Given the description of an element on the screen output the (x, y) to click on. 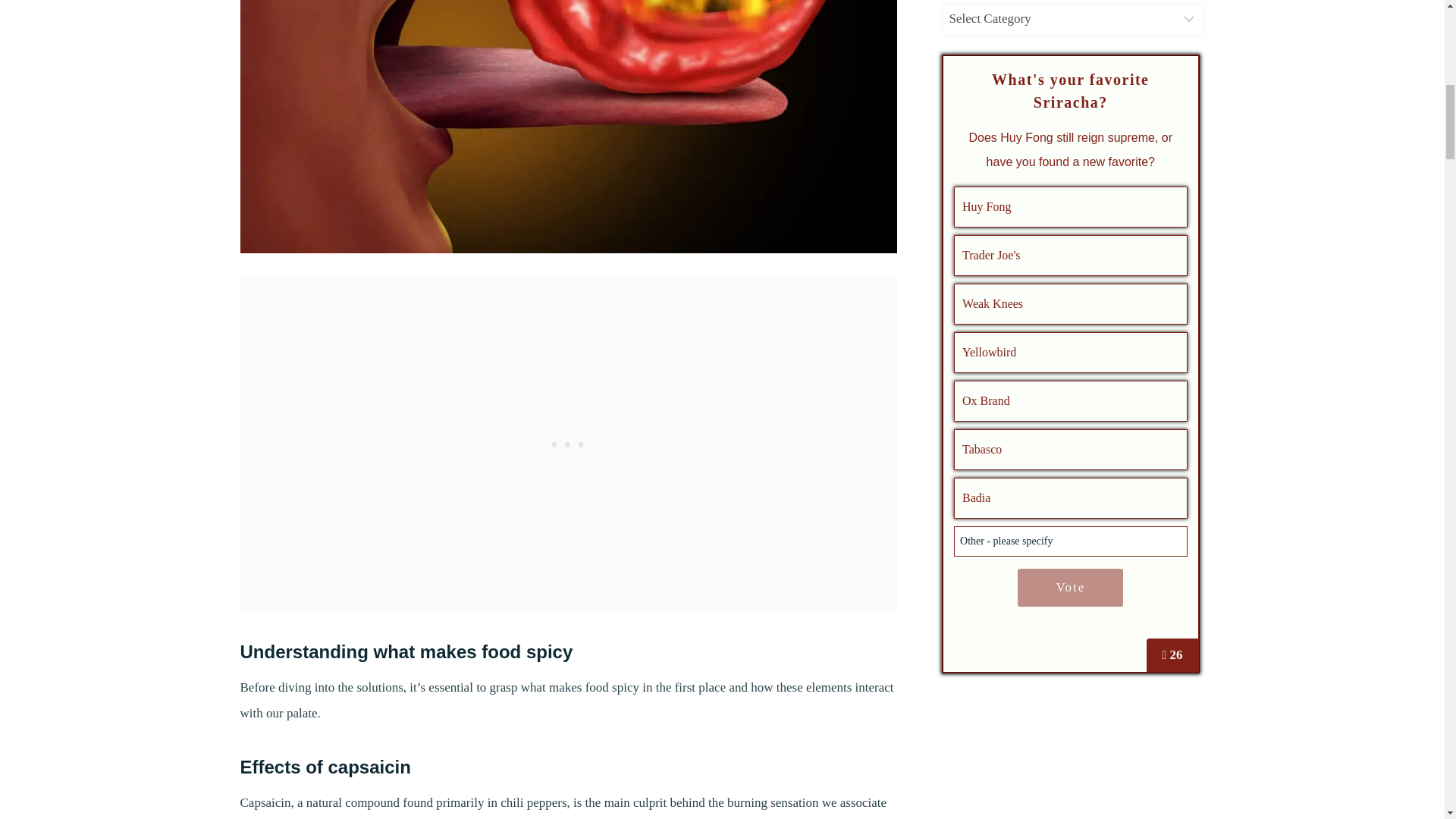
Vote (1069, 587)
